Given the description of an element on the screen output the (x, y) to click on. 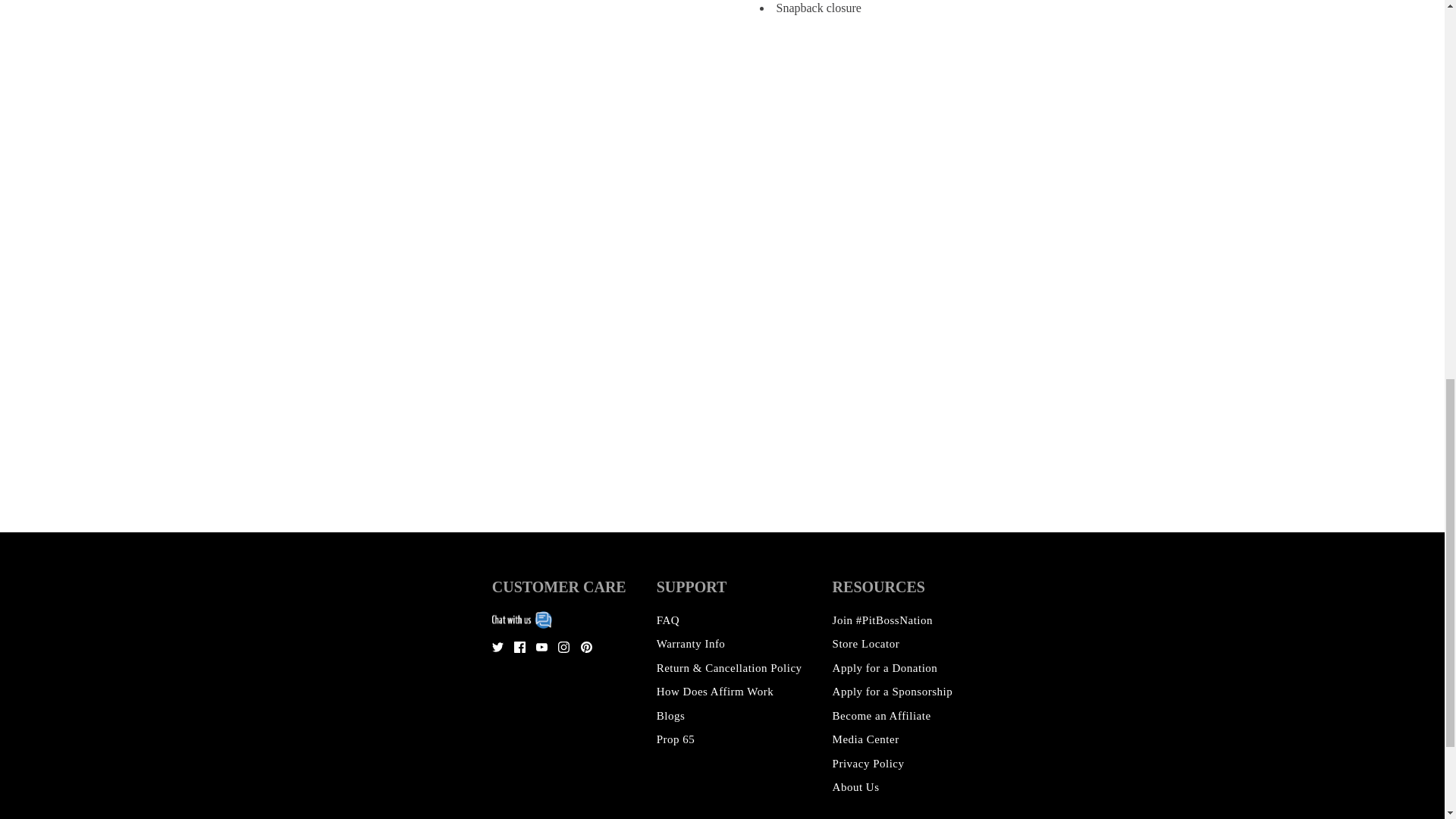
Youtube (541, 646)
Twitter (497, 646)
Facebook (519, 646)
Instagram (563, 646)
Pinterest (586, 646)
